Given the description of an element on the screen output the (x, y) to click on. 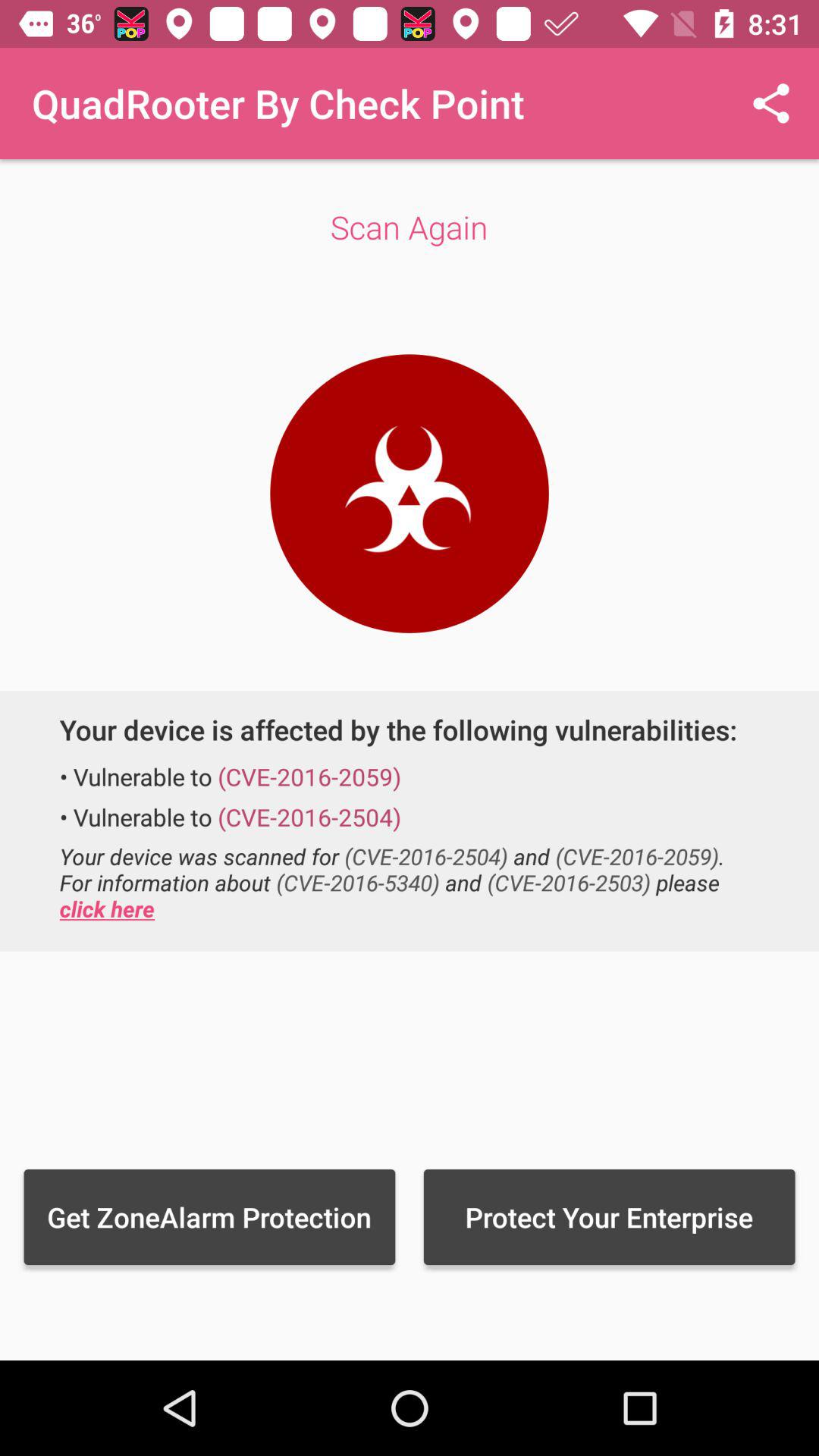
press item at the bottom left corner (209, 1216)
